Given the description of an element on the screen output the (x, y) to click on. 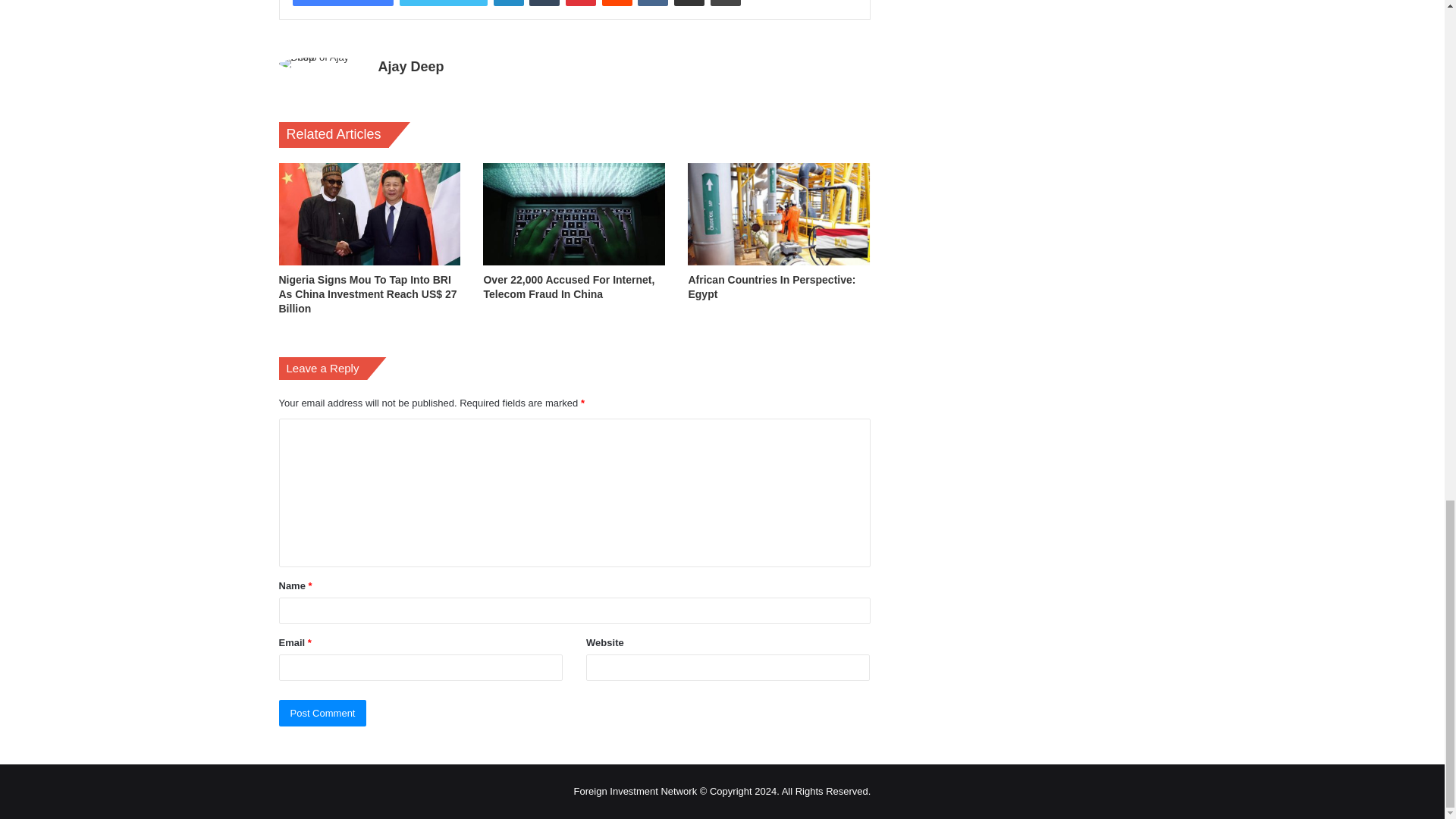
Pinterest (580, 2)
Facebook (343, 2)
Reddit (616, 2)
LinkedIn (508, 2)
Twitter (442, 2)
Facebook (343, 2)
Twitter (442, 2)
Post Comment (322, 713)
Tumblr (544, 2)
Share via Email (689, 2)
VKontakte (652, 2)
Print (725, 2)
